Given the description of an element on the screen output the (x, y) to click on. 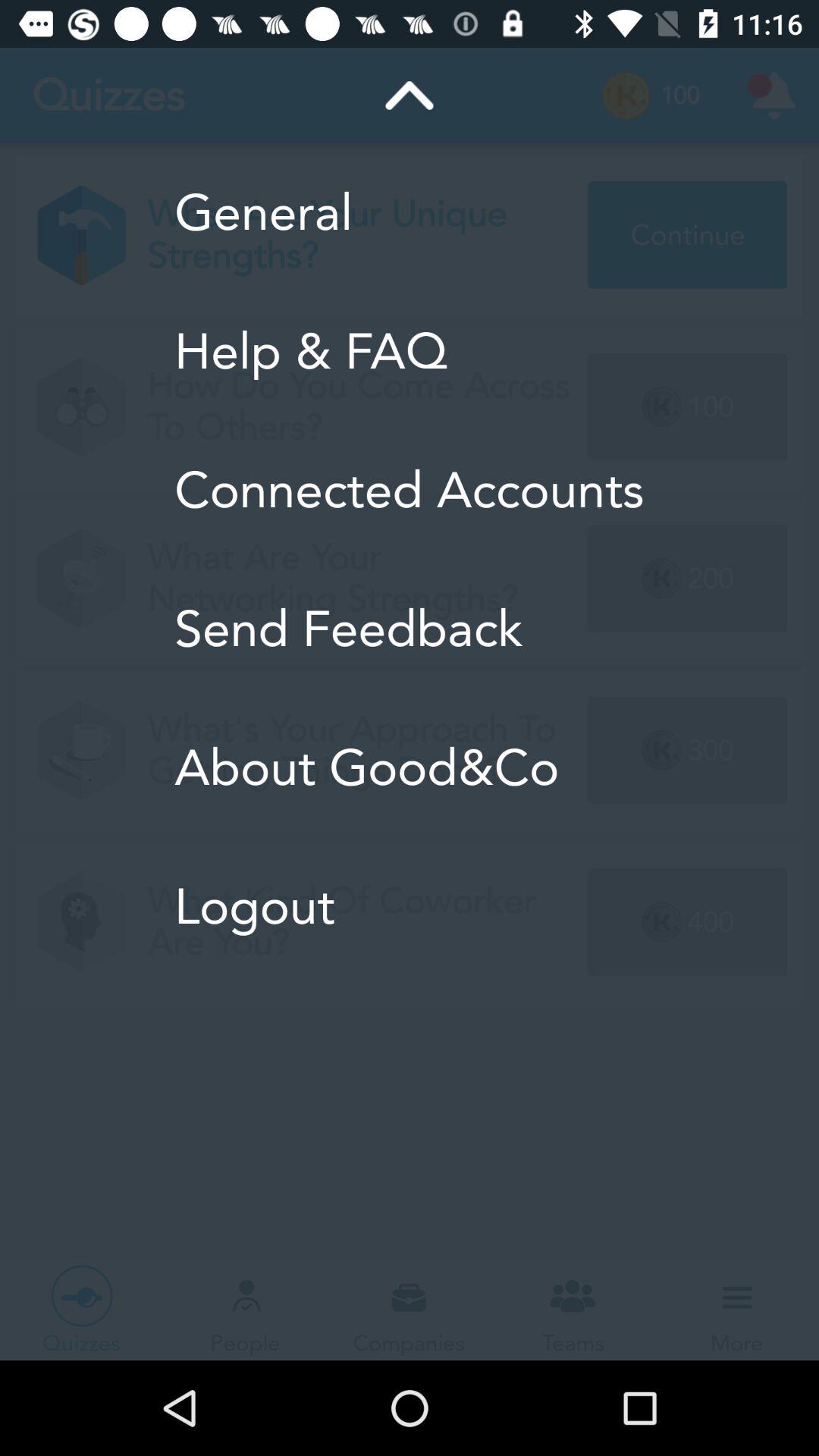
turn on connected accounts icon (408, 489)
